Given the description of an element on the screen output the (x, y) to click on. 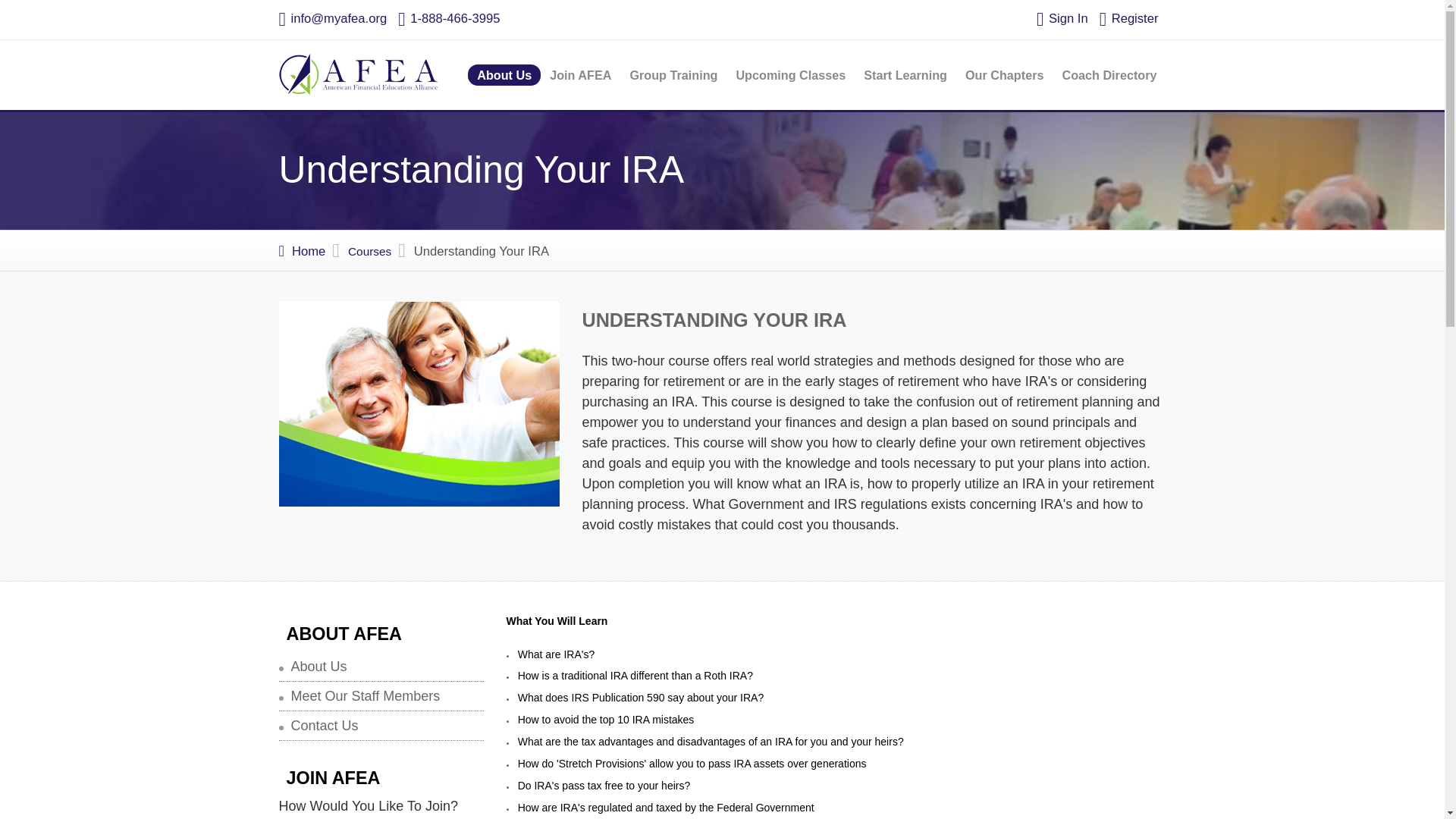
1-888-466-3995 (448, 18)
Sign In (1061, 18)
Upcoming Classes (790, 74)
1-888-466-3995 (448, 18)
About Us (503, 74)
Meet Our Staff Members (366, 695)
About Us (319, 666)
Contact Us (324, 725)
Group Training (673, 74)
Coach Directory (1109, 74)
Upcoming Classes (790, 74)
Sign In (1061, 18)
Our Chapters (1004, 74)
Courses (369, 250)
Register (1128, 18)
